Given the description of an element on the screen output the (x, y) to click on. 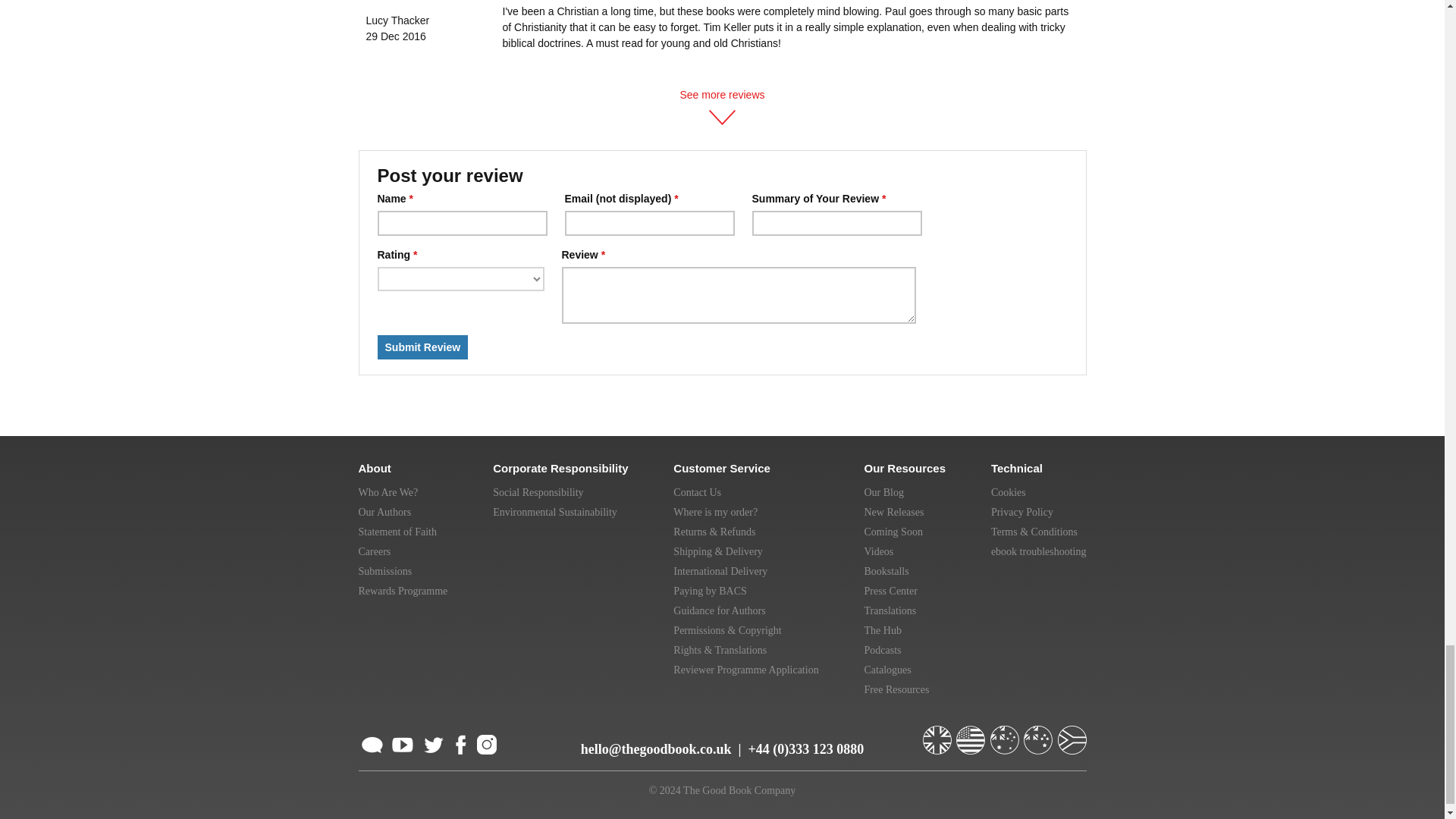
Go to South Africa Website (1071, 733)
Subscribe to feed (371, 742)
Go to Australia Website (1006, 733)
Go to UK Website (937, 733)
Go to New Zealand Website (1039, 733)
Submit Review (422, 346)
Go to US Website (972, 733)
